Given the description of an element on the screen output the (x, y) to click on. 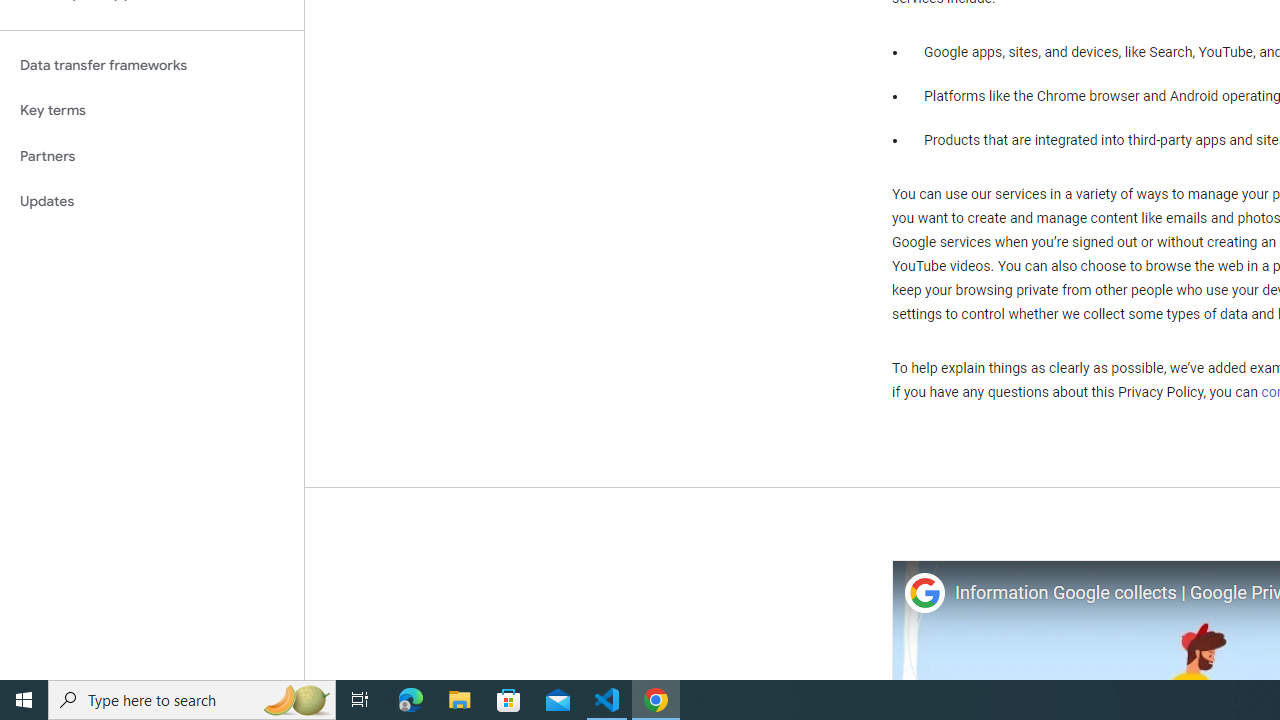
Updates (152, 201)
Partners (152, 156)
Photo image of Google (924, 593)
Data transfer frameworks (152, 65)
Key terms (152, 110)
